Given the description of an element on the screen output the (x, y) to click on. 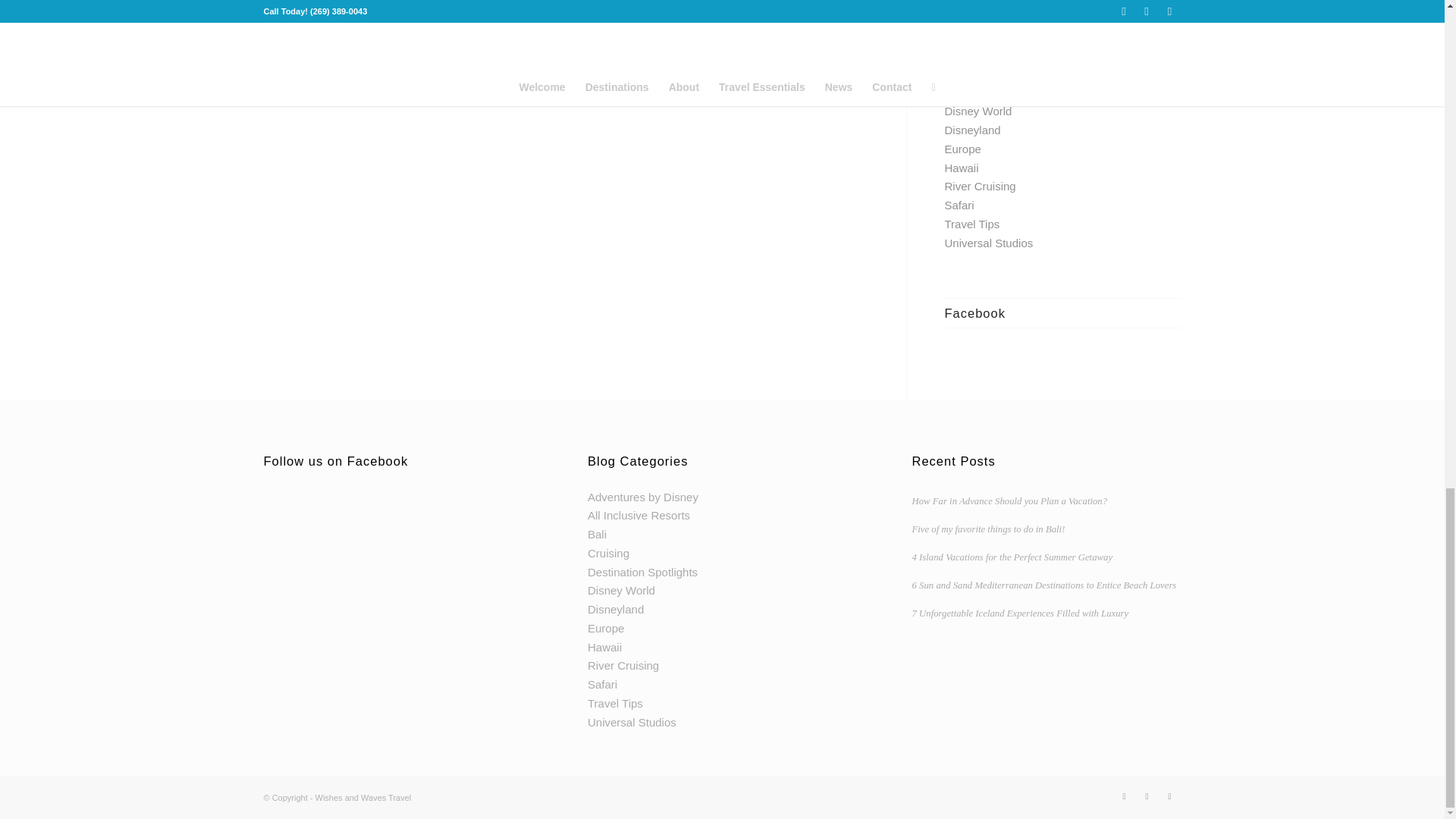
Youtube (1124, 795)
Posts by Cheri (657, 28)
Instagram (1169, 795)
Facebook (1146, 795)
